Given the description of an element on the screen output the (x, y) to click on. 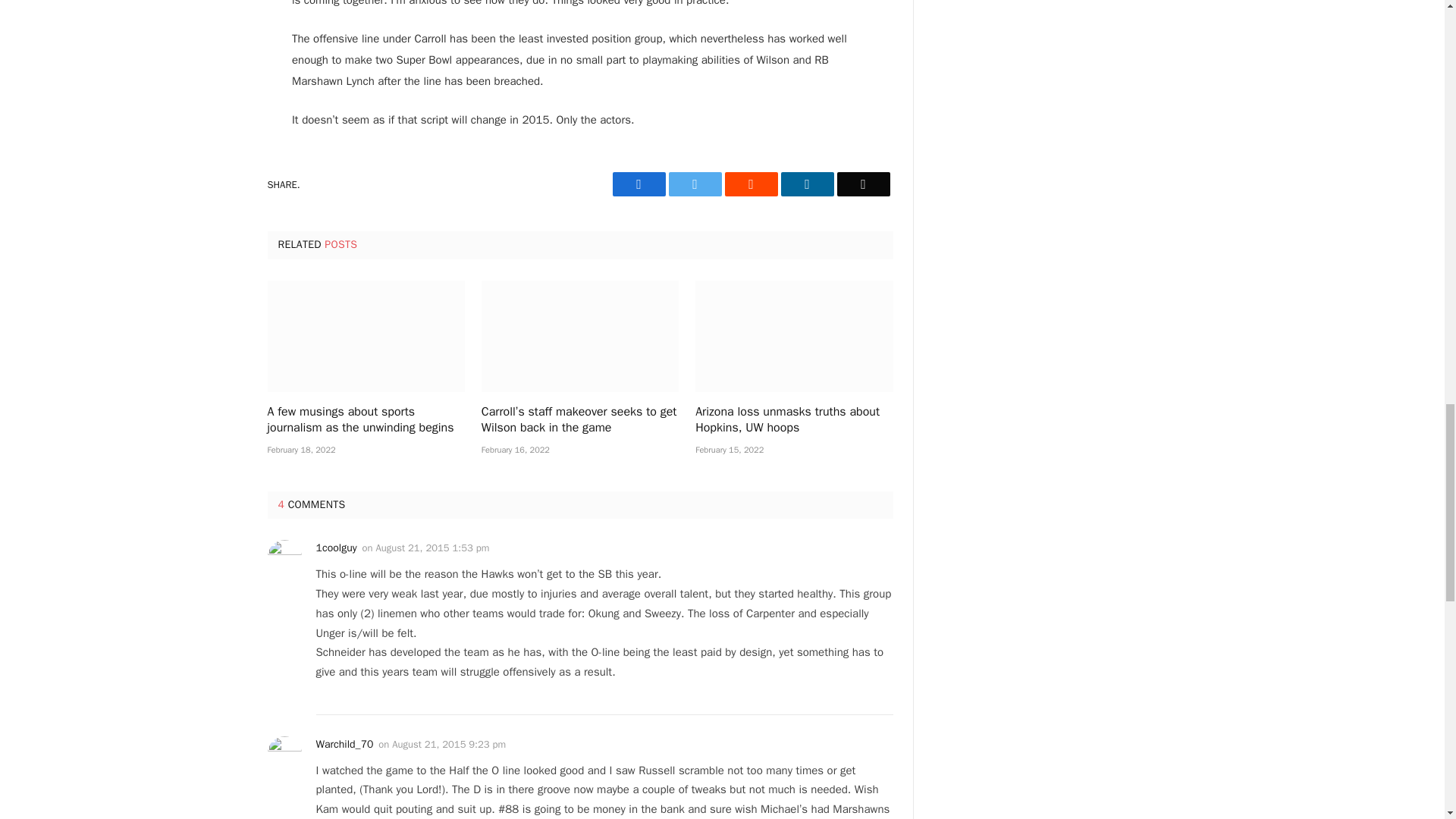
Facebook (638, 183)
Twitter (695, 183)
Email (863, 183)
Reddit (751, 183)
LinkedIn (807, 183)
